Given the description of an element on the screen output the (x, y) to click on. 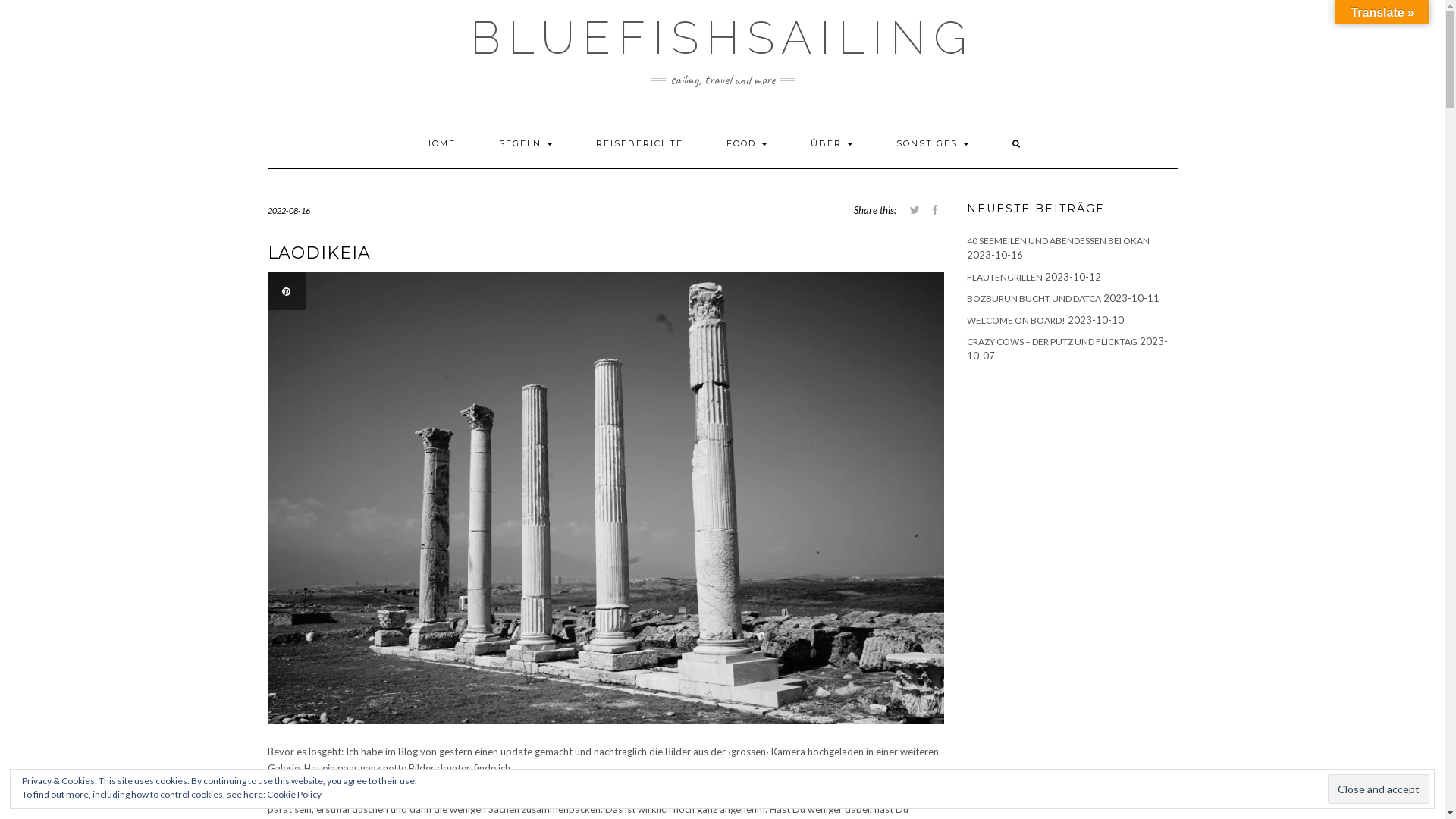
BOZBURUN BUCHT UND DATCA Element type: text (1033, 298)
Close and accept Element type: text (1378, 788)
WELCOME ON BOARD! Element type: text (1015, 320)
FLAUTENGRILLEN Element type: text (1004, 276)
SONSTIGES Element type: text (931, 143)
Cookie Policy Element type: text (293, 794)
40 SEEMEILEN UND ABENDESSEN BEI OKAN Element type: text (1057, 240)
Click to share on Twitter (Opens in new window) Element type: text (914, 209)
Click to share on Facebook (Opens in new window) Element type: text (934, 209)
BLUEFISHSAILING Element type: text (722, 37)
SEGELN Element type: text (524, 143)
REISEBERICHTE Element type: text (638, 143)
HOME Element type: text (439, 143)
FOOD Element type: text (746, 143)
